Given the description of an element on the screen output the (x, y) to click on. 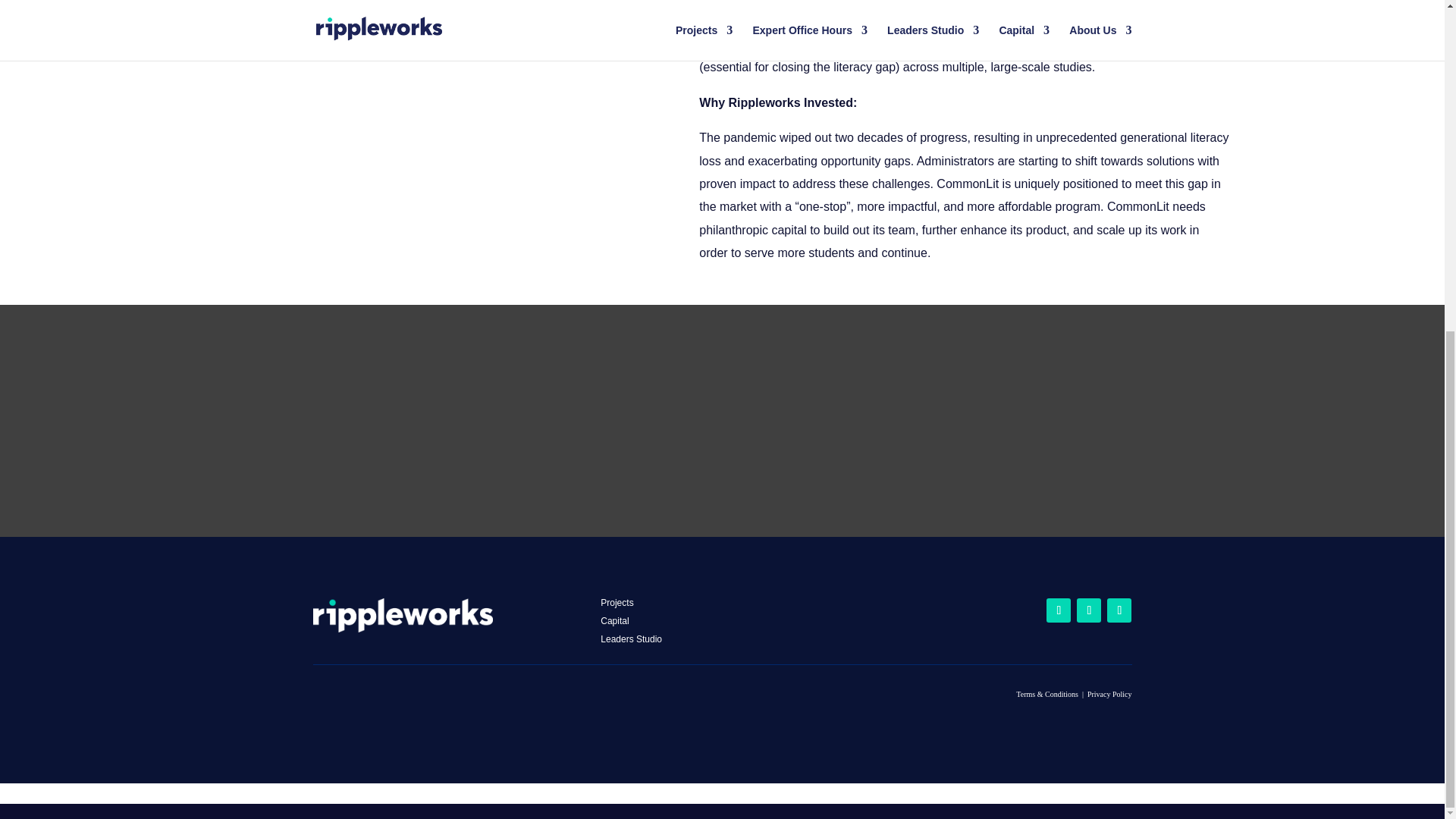
Follow on Facebook (1058, 610)
Follow (1118, 610)
Follow (1088, 610)
Follow on LinkedIn (1118, 610)
Leaders Studio (630, 638)
Capital (613, 620)
Privacy Policy (1109, 694)
Projects (616, 602)
Follow (1058, 610)
Follow on Twitter (1088, 610)
